Given the description of an element on the screen output the (x, y) to click on. 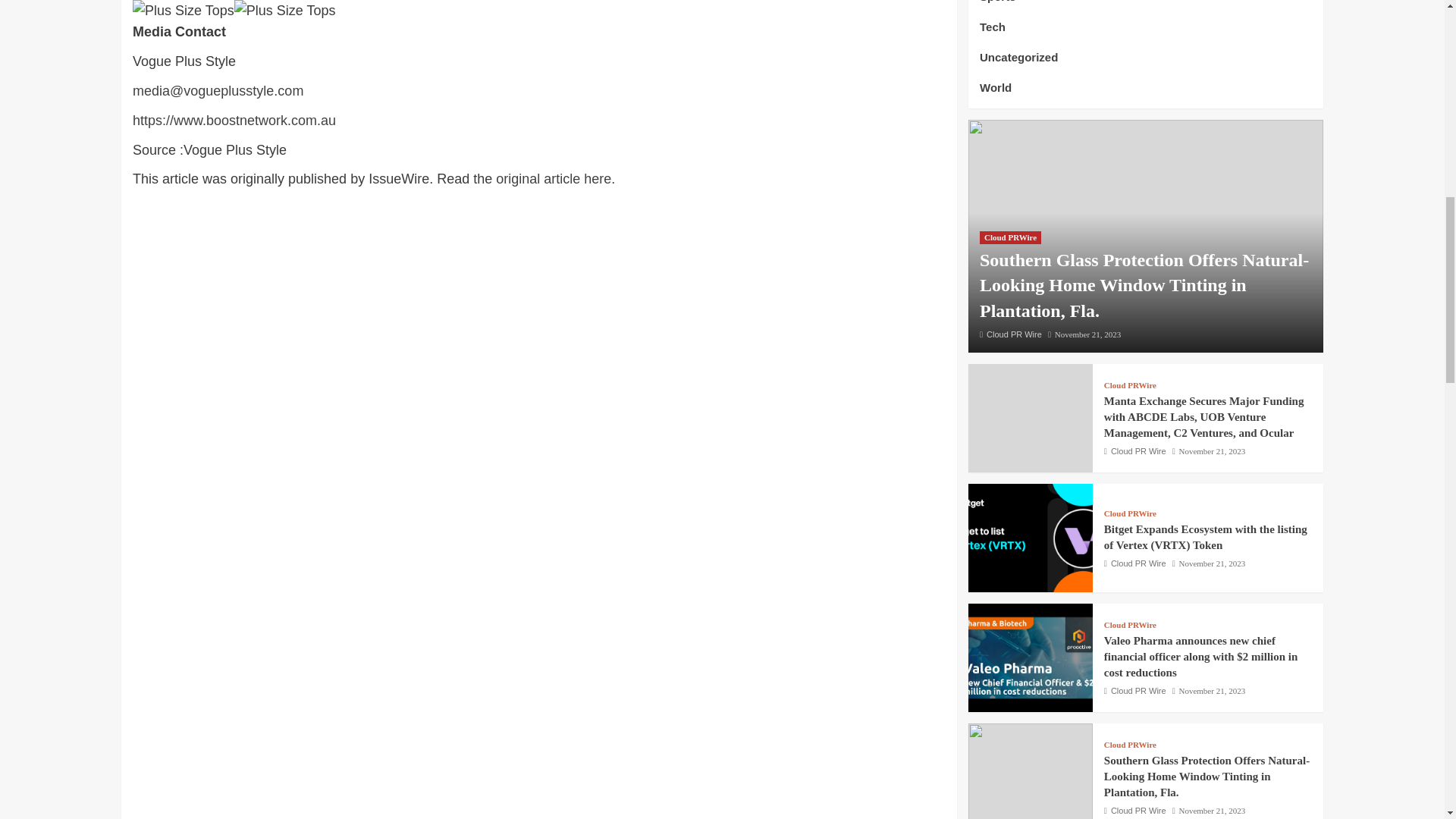
original article here. (555, 178)
Plus Size Tops (183, 11)
Plus Size Tops (285, 11)
